Given the description of an element on the screen output the (x, y) to click on. 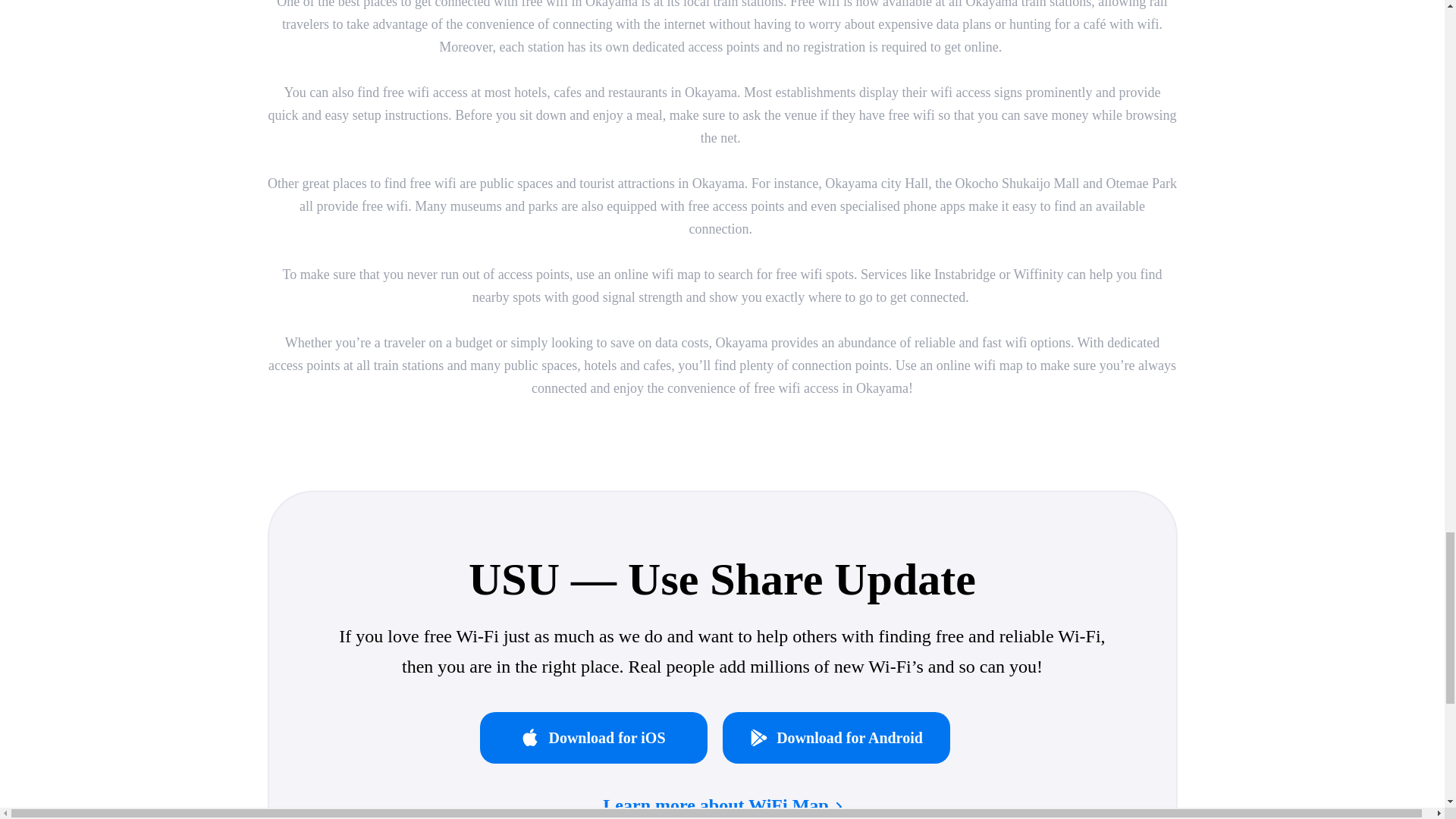
Learn more about WiFi Map (721, 804)
Download for iOS (600, 737)
Download for Android (842, 737)
